Given the description of an element on the screen output the (x, y) to click on. 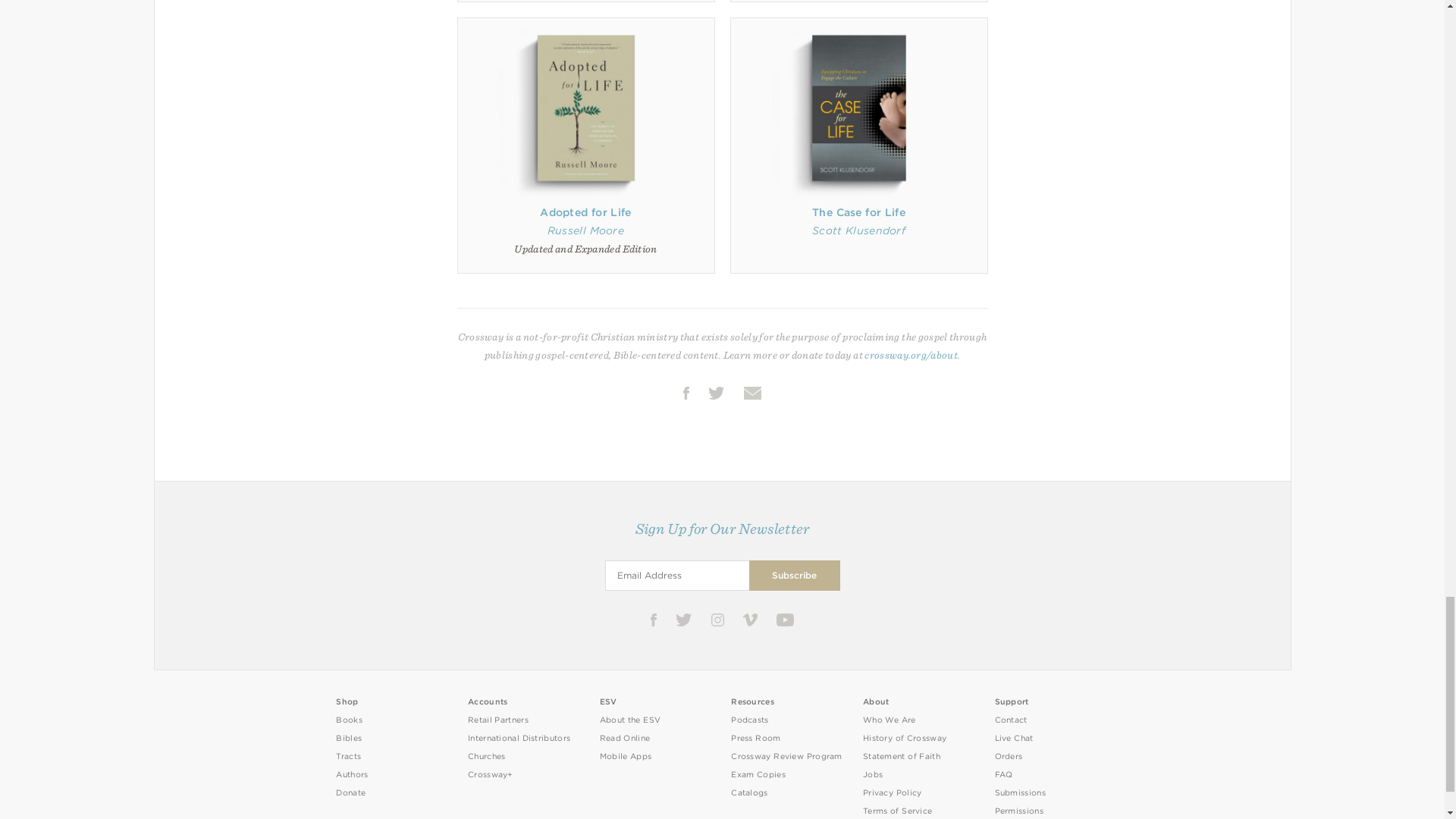
Russell Moore (585, 230)
Subscribe (794, 575)
Scott Klusendorf (858, 230)
Adopted for Life (585, 212)
The Case for Life (858, 212)
